Given the description of an element on the screen output the (x, y) to click on. 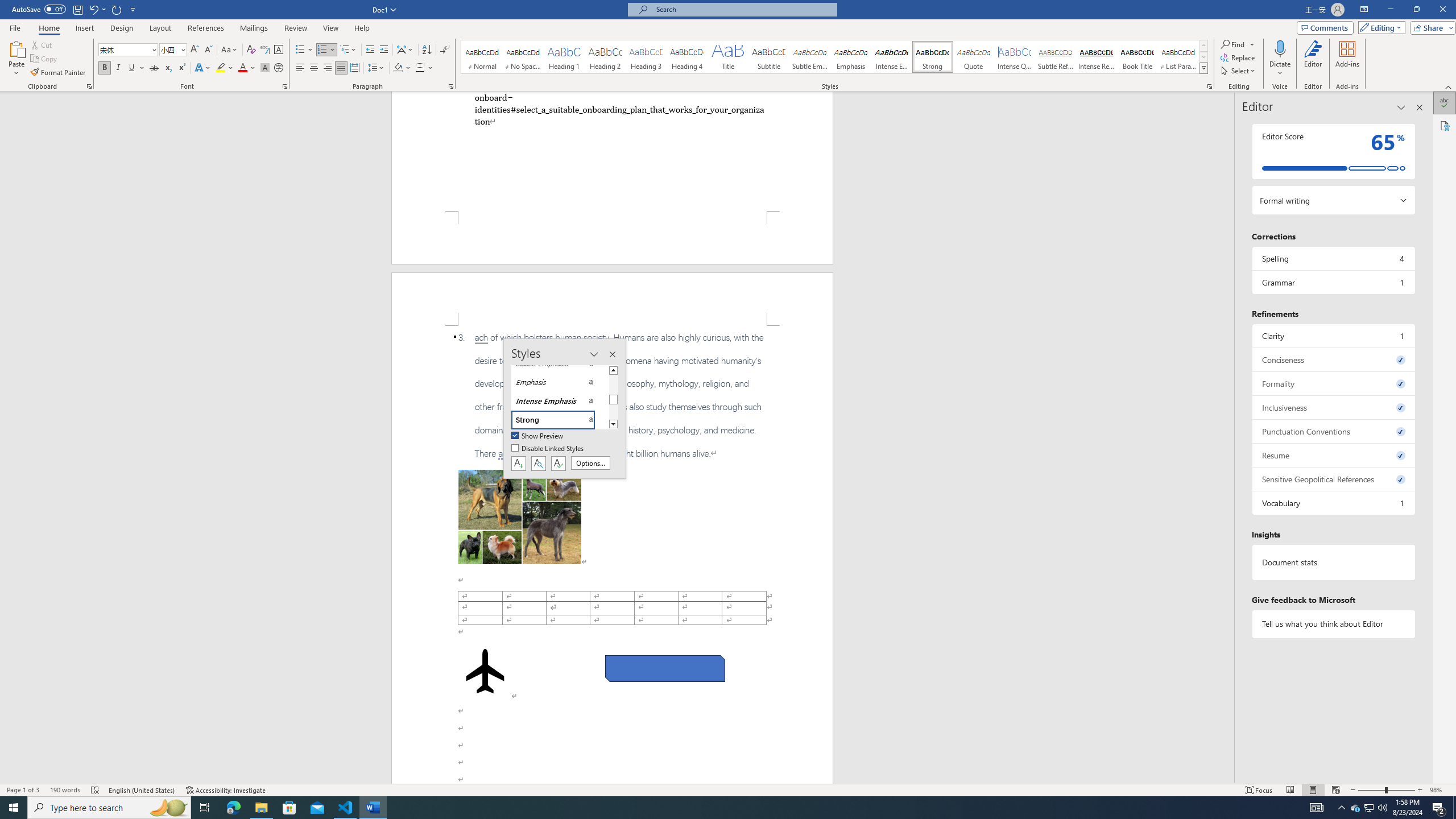
3. (611, 395)
Book Title (1136, 56)
